Given the description of an element on the screen output the (x, y) to click on. 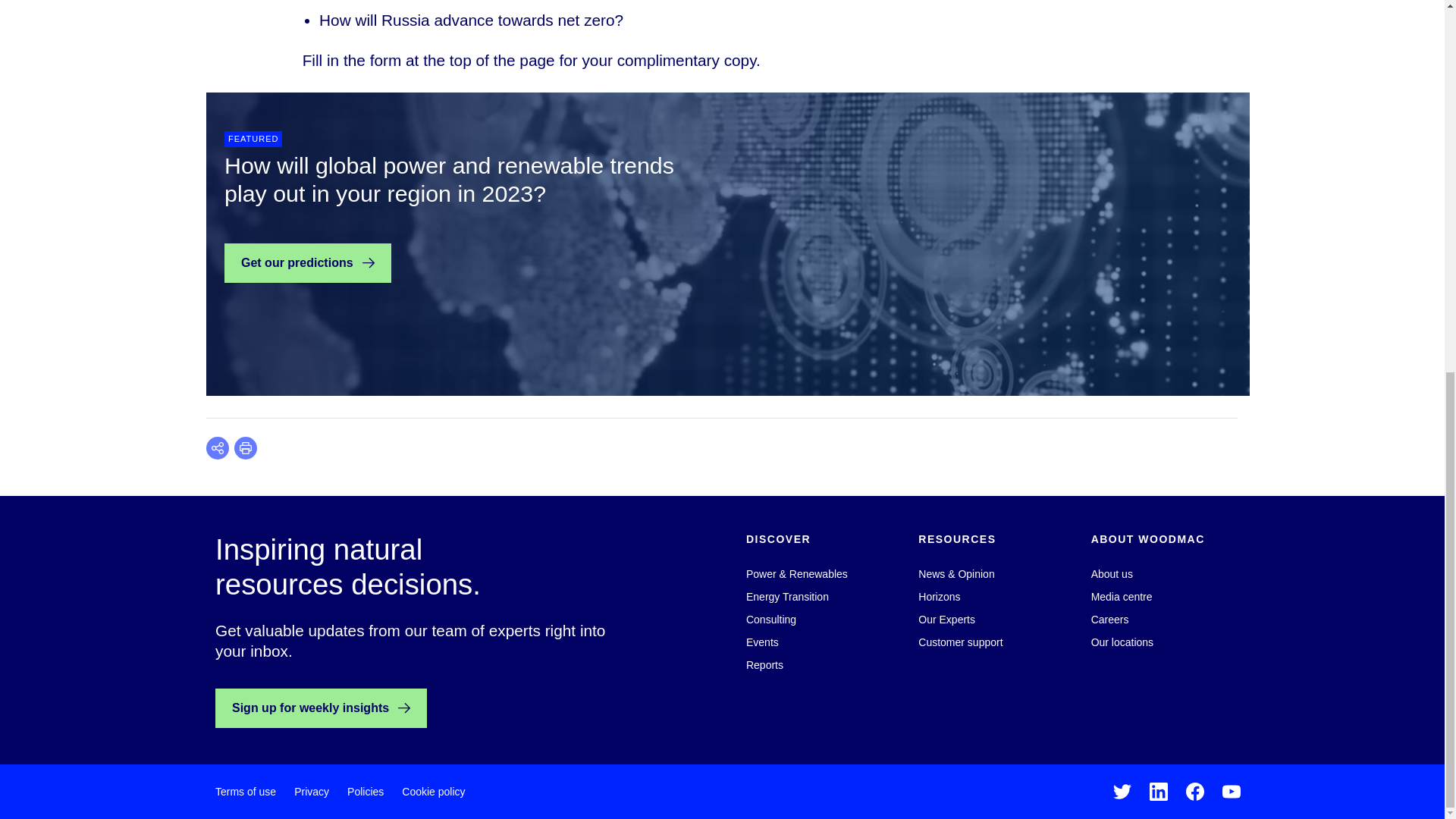
Consulting (770, 619)
Customer support (960, 642)
Reports (764, 664)
Media centre (1121, 596)
Careers (1109, 619)
Horizons (938, 596)
Our Experts (946, 619)
About us (1111, 573)
Our locations (1121, 642)
Energy Transition (786, 596)
